Given the description of an element on the screen output the (x, y) to click on. 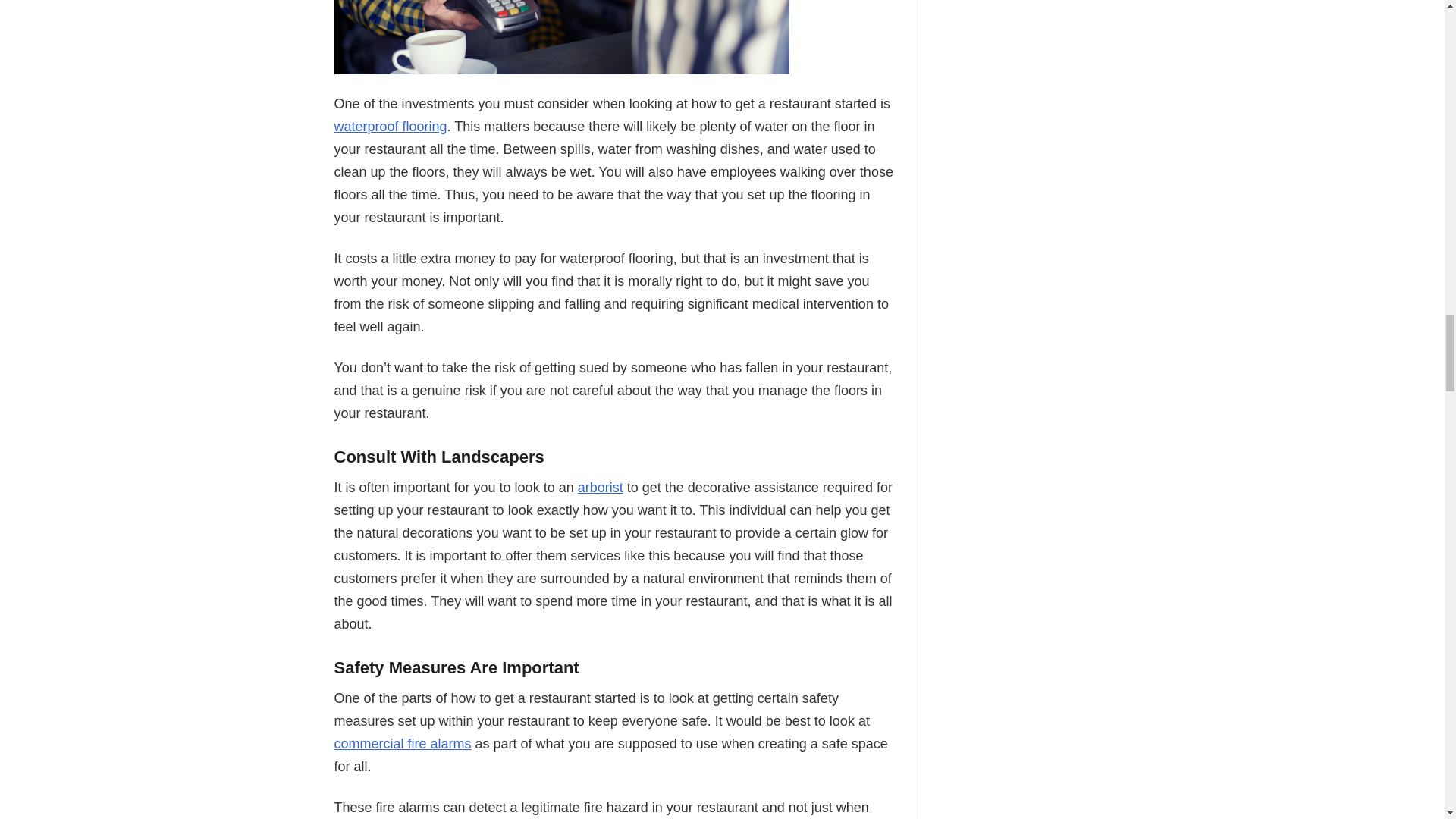
waterproof flooring (389, 126)
arborist (600, 487)
commercial fire alarms (401, 743)
